Given the description of an element on the screen output the (x, y) to click on. 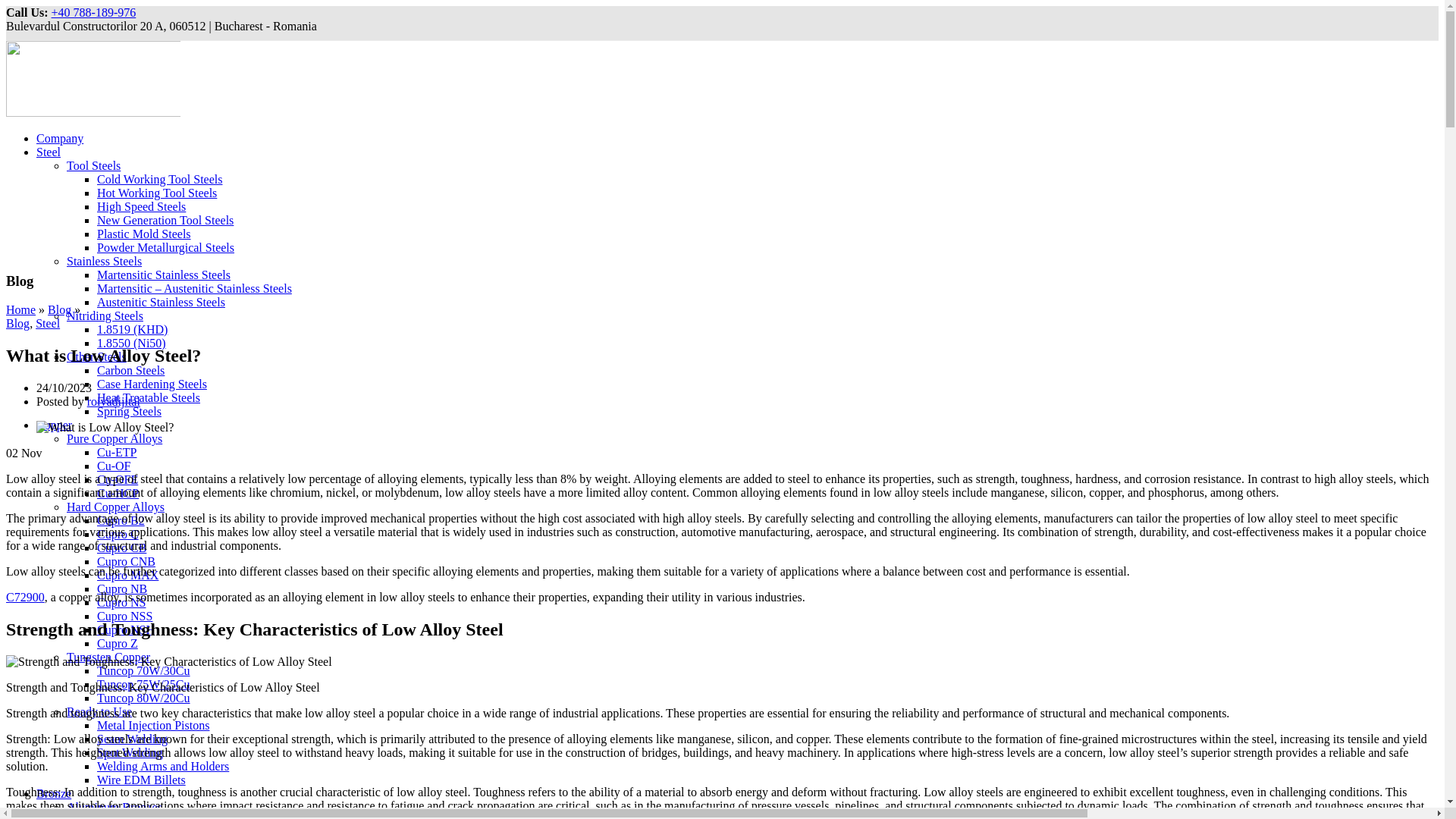
Cu-OFE (117, 479)
Cold Working Tool Steels (159, 178)
Cupro NSH (125, 629)
Cu-HCP (117, 492)
Hard Copper Alloys (115, 506)
Cupro NS (121, 602)
Pure Copper Alloys (113, 438)
Tool Steels (93, 164)
Steel (48, 151)
Copper (53, 424)
